Given the description of an element on the screen output the (x, y) to click on. 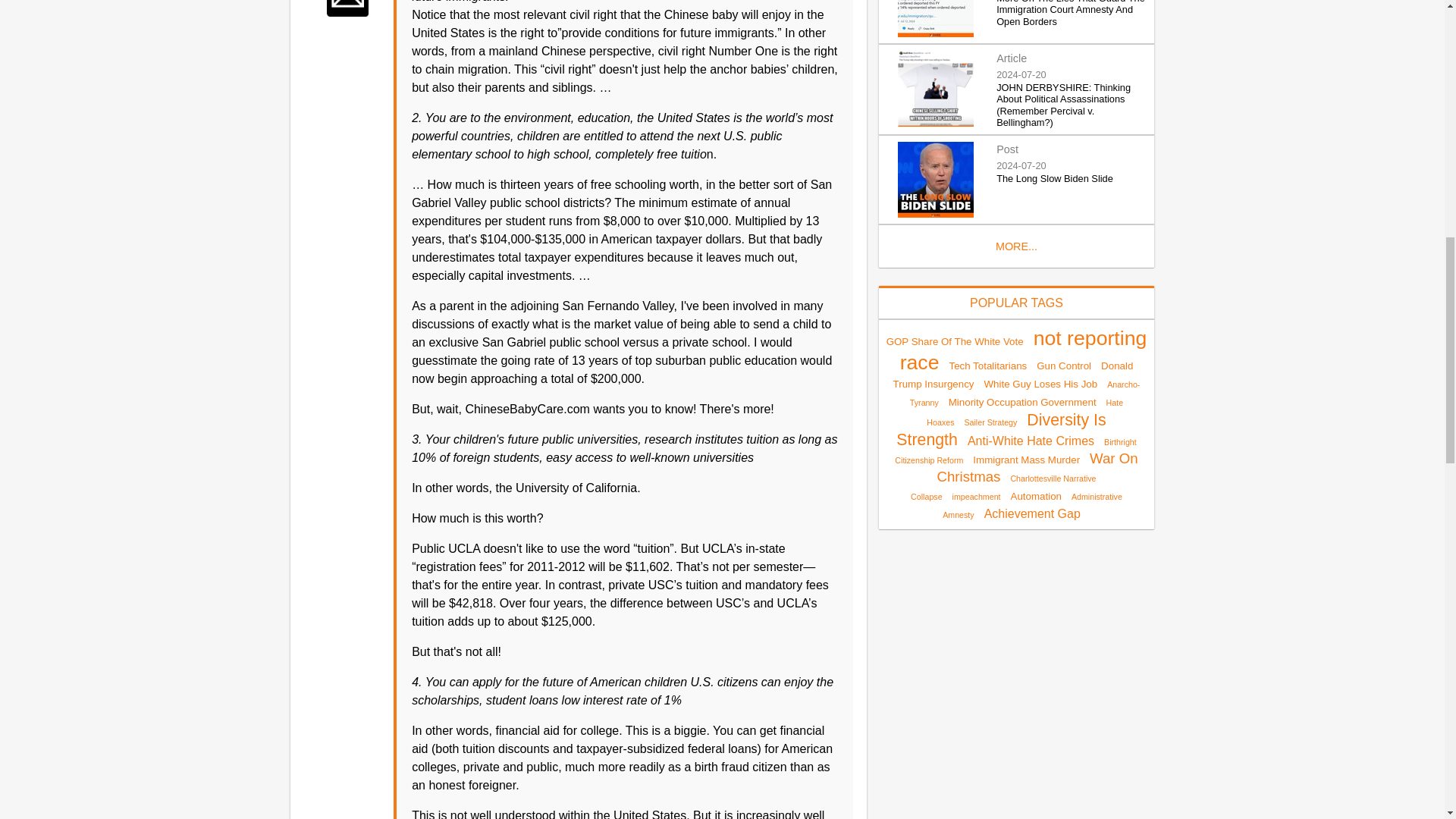
Share to Email (347, 8)
